Given the description of an element on the screen output the (x, y) to click on. 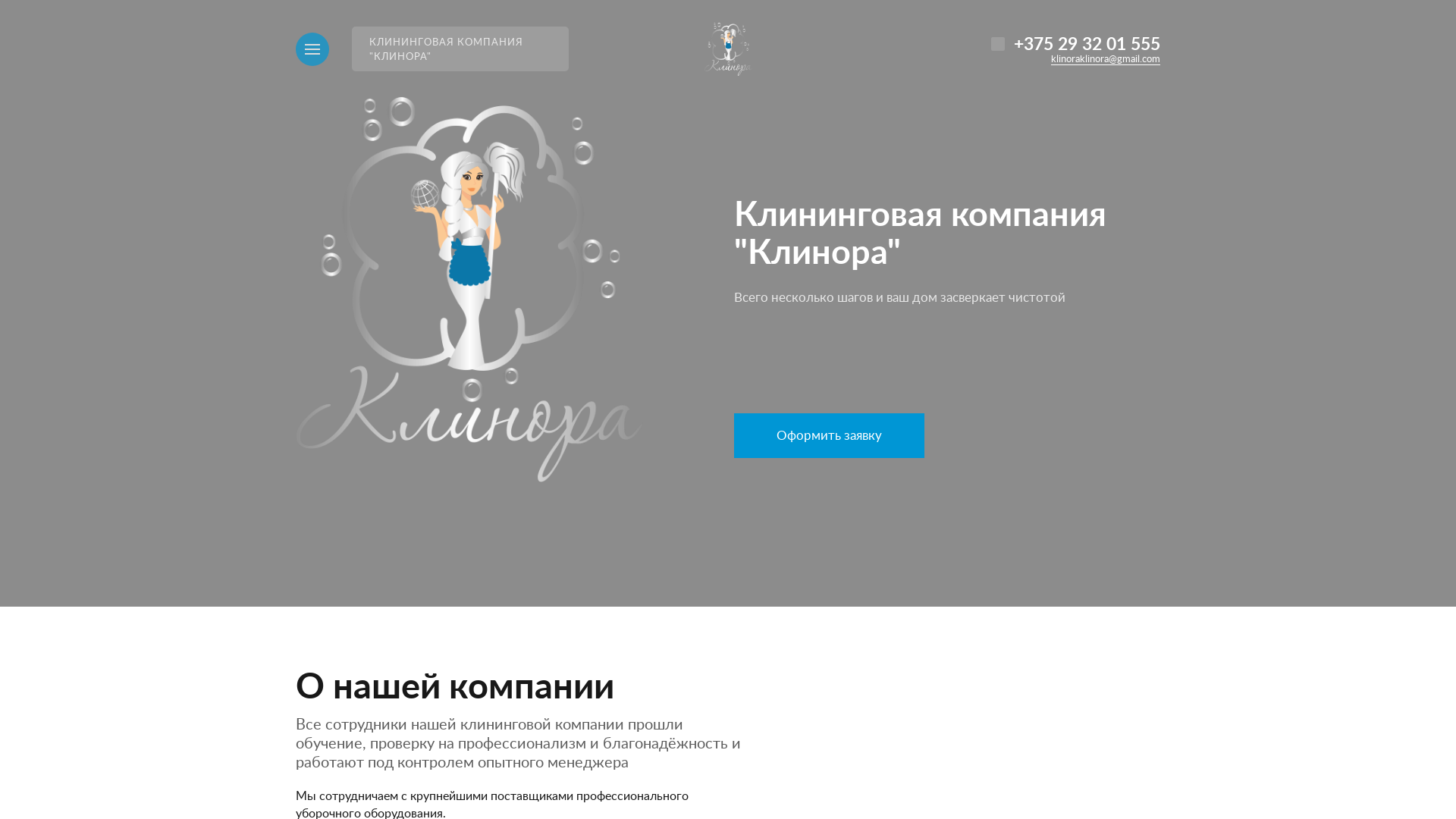
klinoraklinora@gmail.com Element type: text (1105, 59)
+375 29 32 01 555 Element type: text (1086, 43)
